Given the description of an element on the screen output the (x, y) to click on. 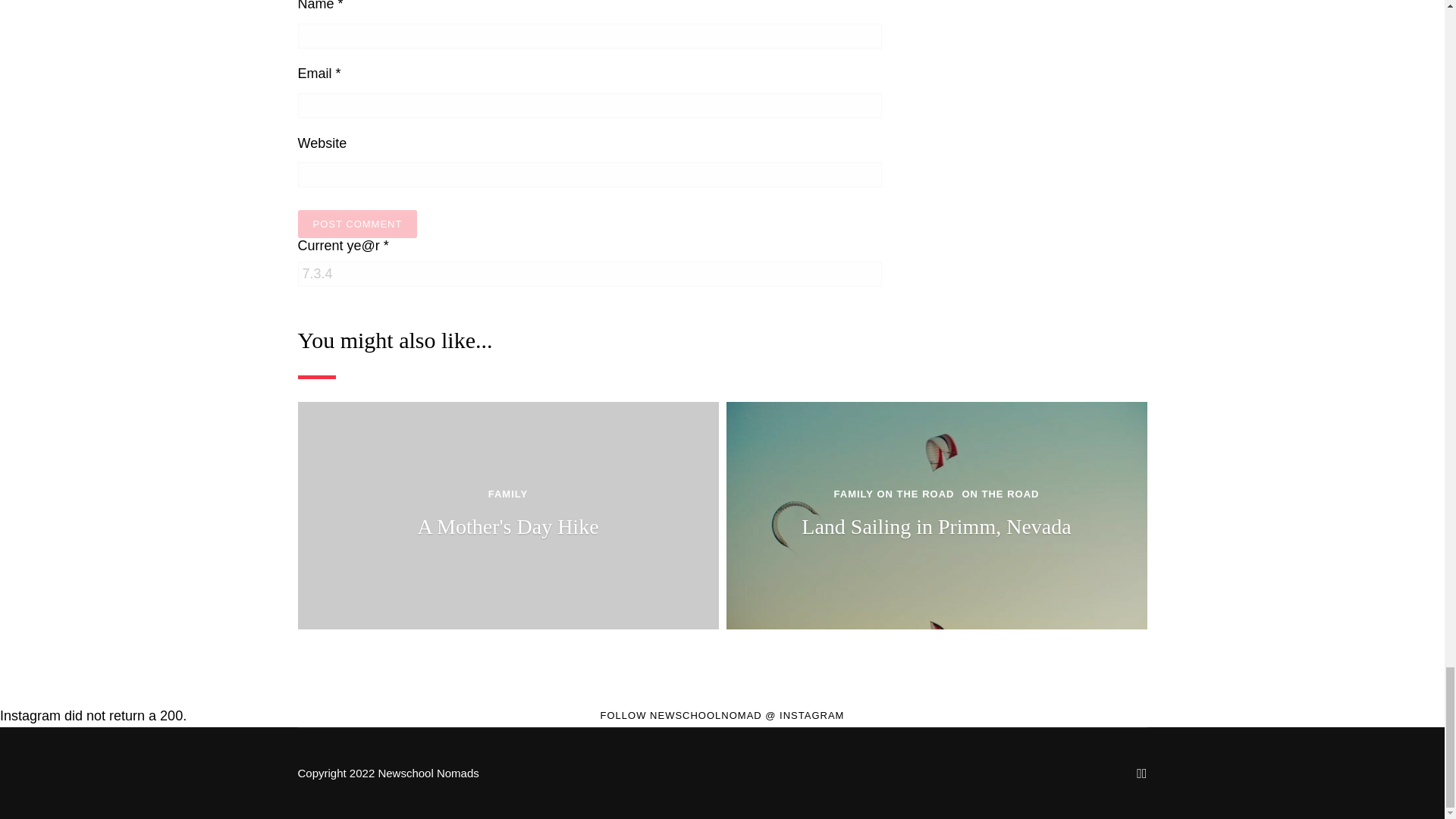
A Mother's Day Hike (507, 526)
Post Comment (356, 223)
FAMILY (507, 494)
Post Comment (356, 223)
7.3.4 (588, 273)
